Given the description of an element on the screen output the (x, y) to click on. 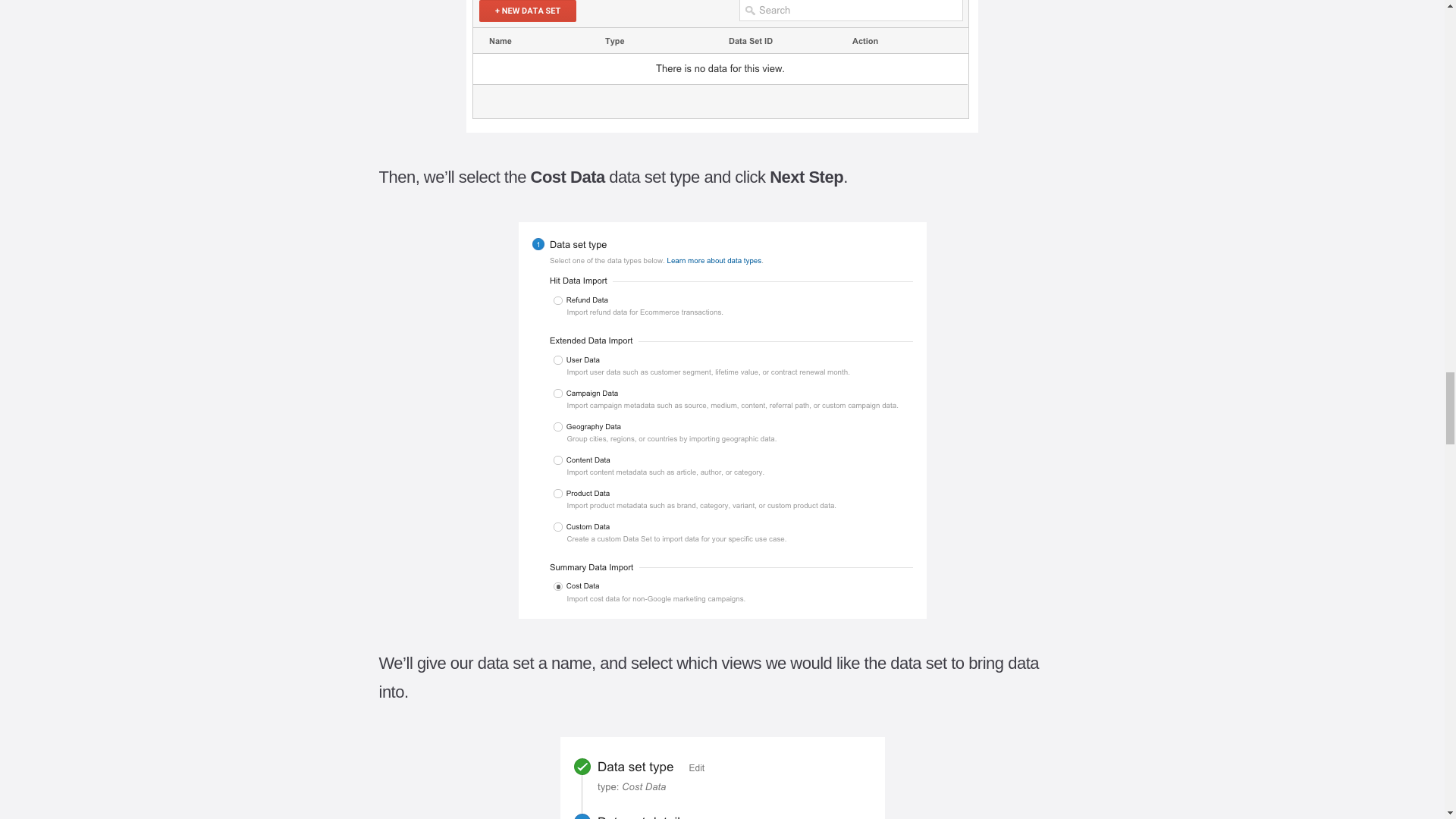
New Data Set (721, 66)
Select Views (721, 778)
